Given the description of an element on the screen output the (x, y) to click on. 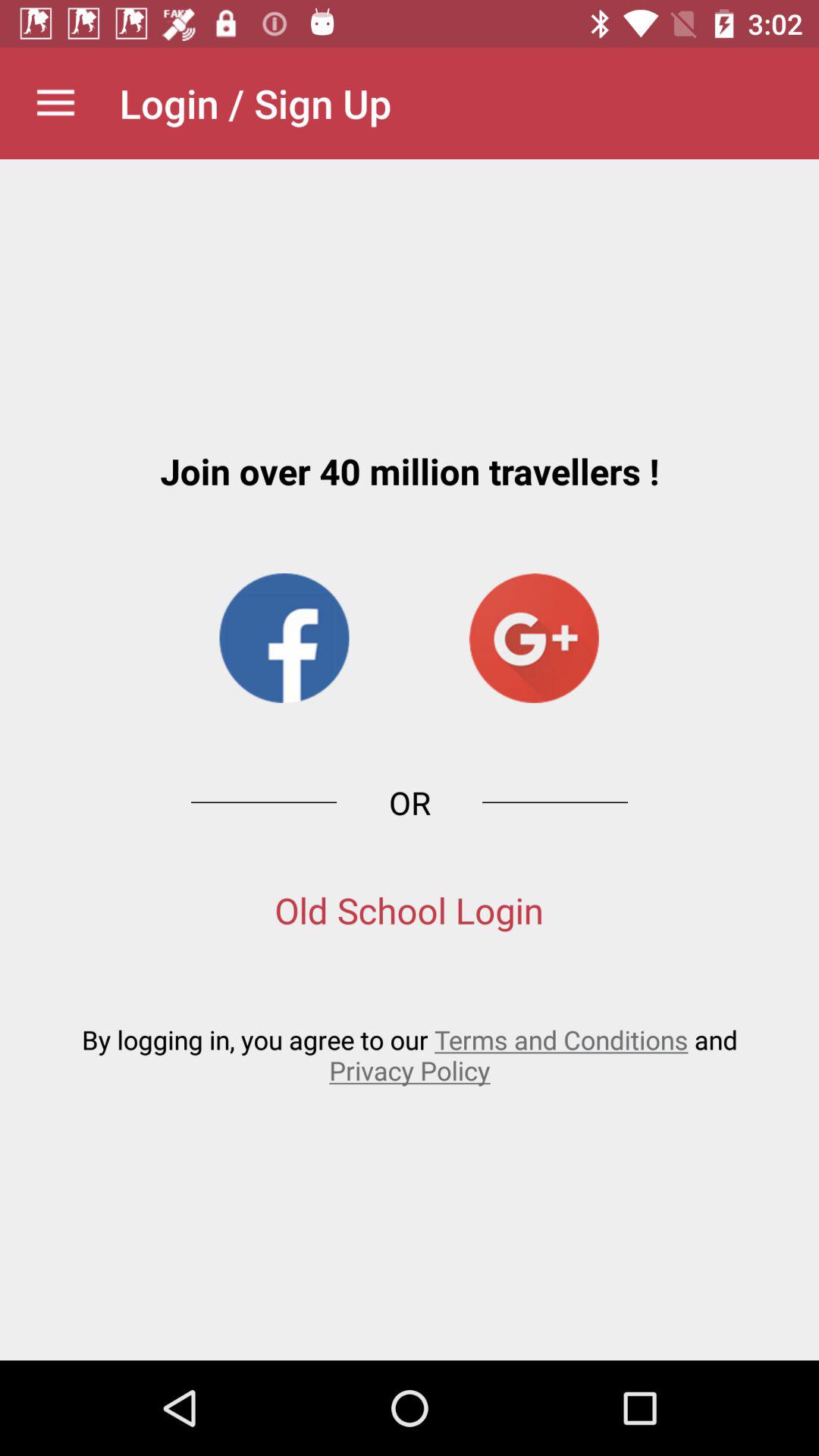
tap item above the join over 40 item (55, 103)
